Given the description of an element on the screen output the (x, y) to click on. 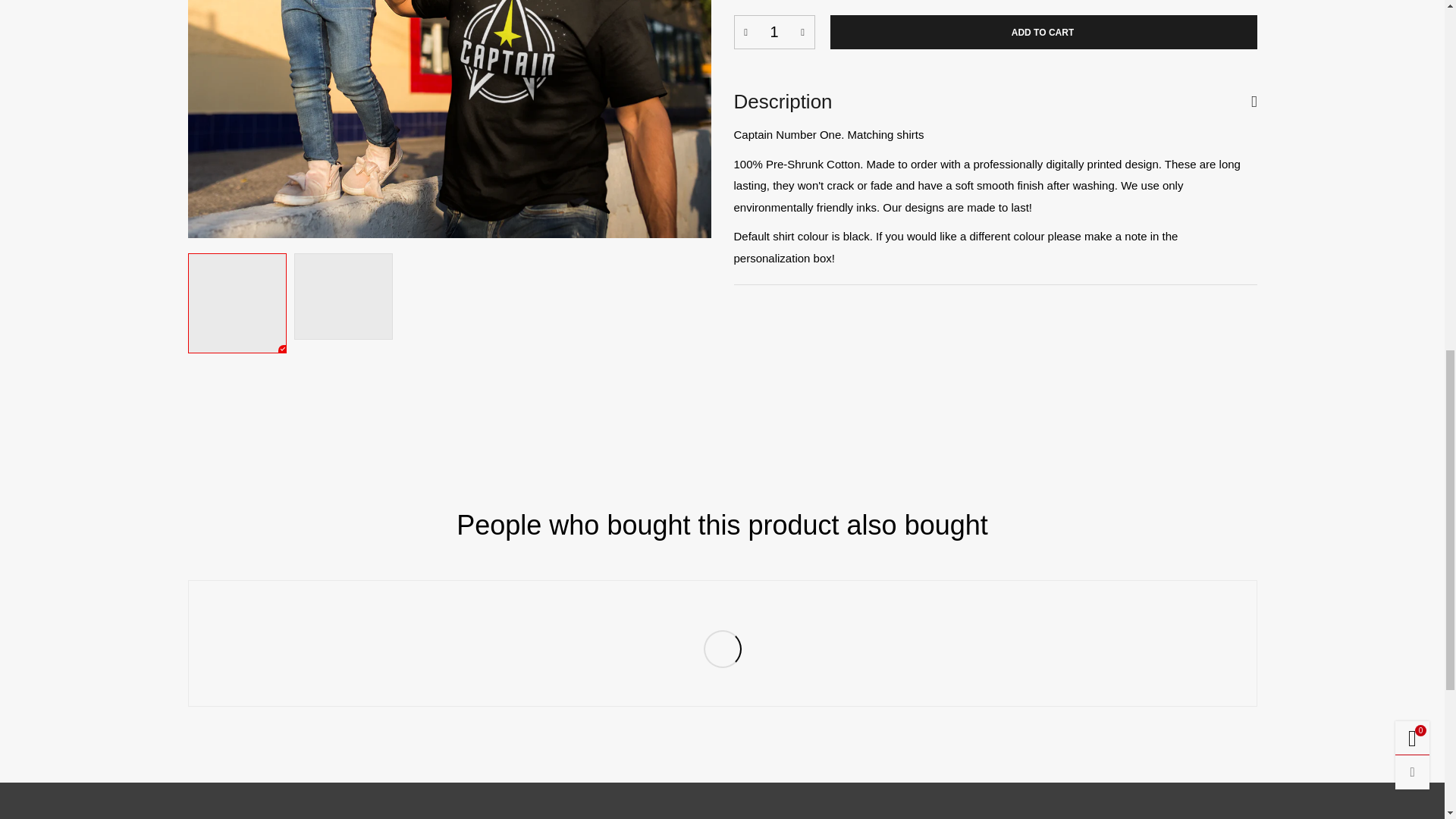
1 (773, 31)
